Given the description of an element on the screen output the (x, y) to click on. 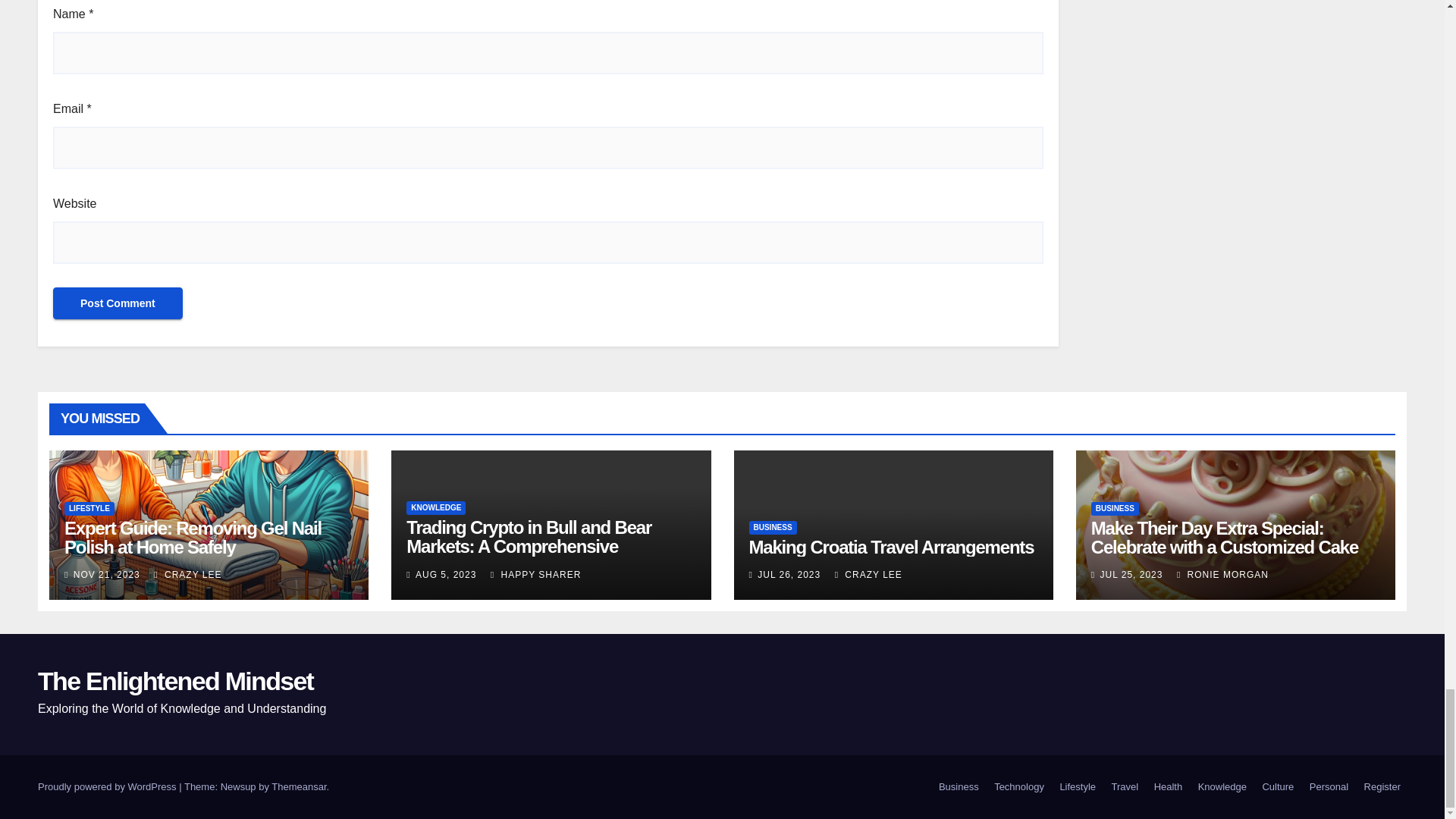
Post Comment (117, 303)
